Given the description of an element on the screen output the (x, y) to click on. 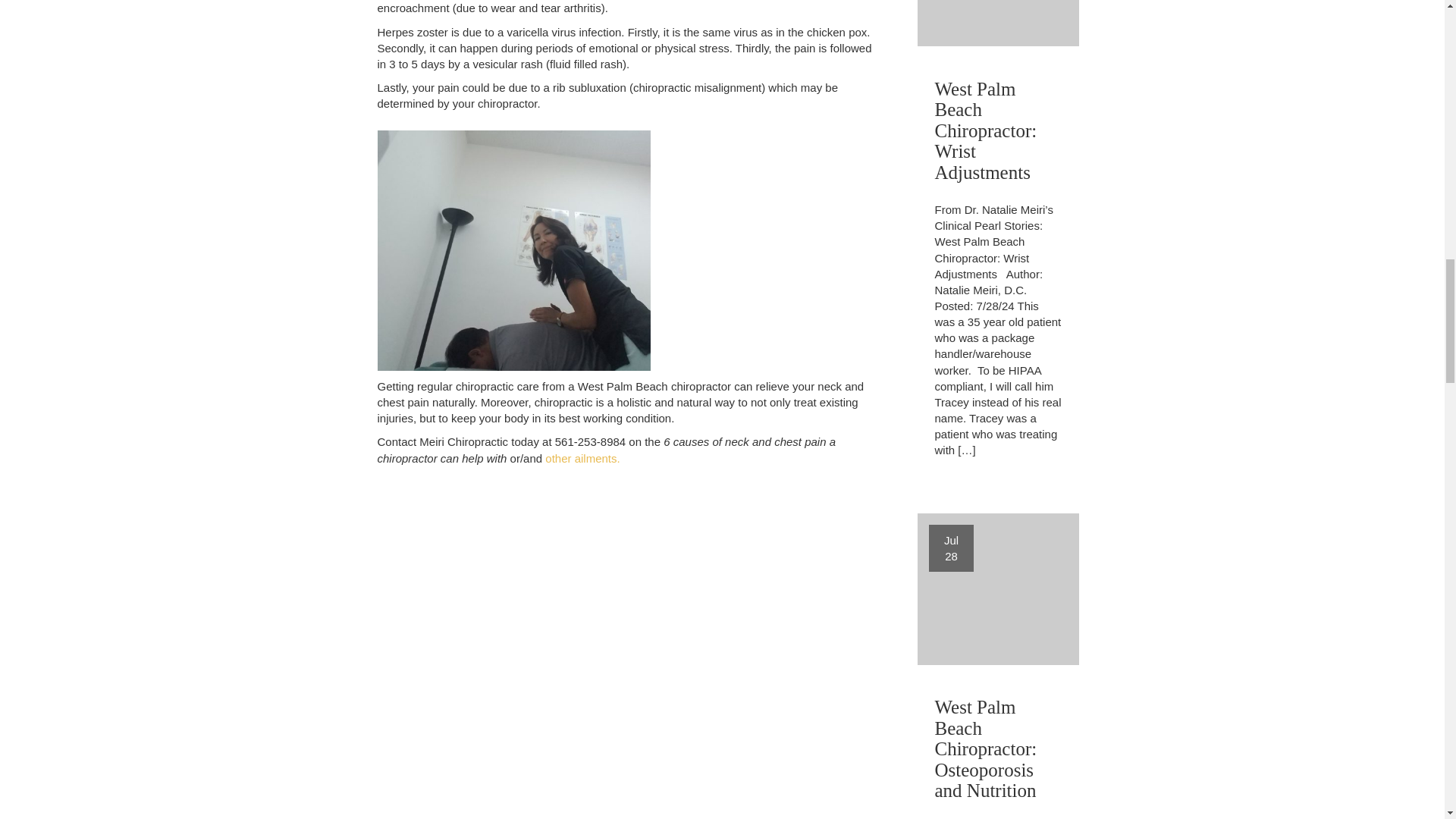
other ailments. (582, 458)
West Palm Beach Chiropractor: Osteoporosis and Nutrition (997, 745)
West Palm Beach Chiropractor: Wrist Adjustments (997, 126)
